Given the description of an element on the screen output the (x, y) to click on. 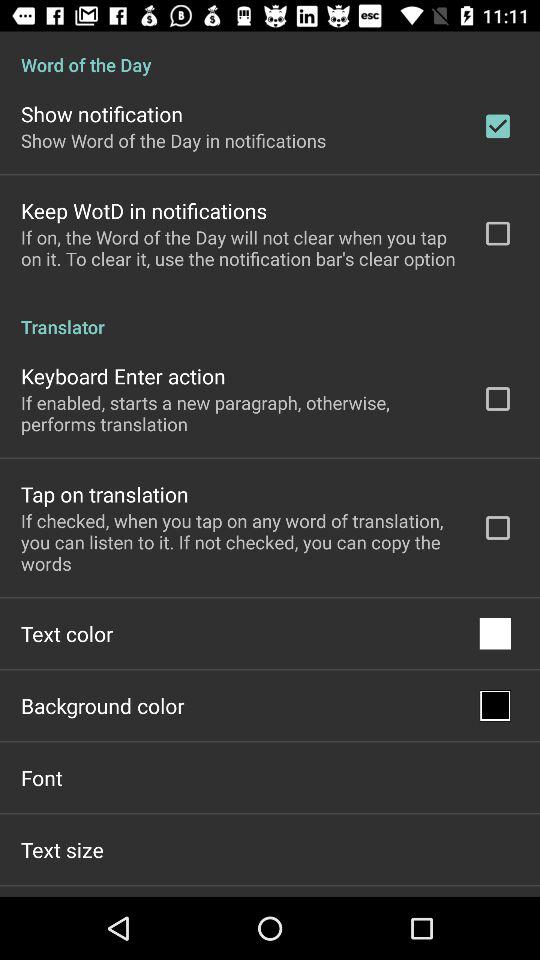
jump to text color (67, 633)
